Given the description of an element on the screen output the (x, y) to click on. 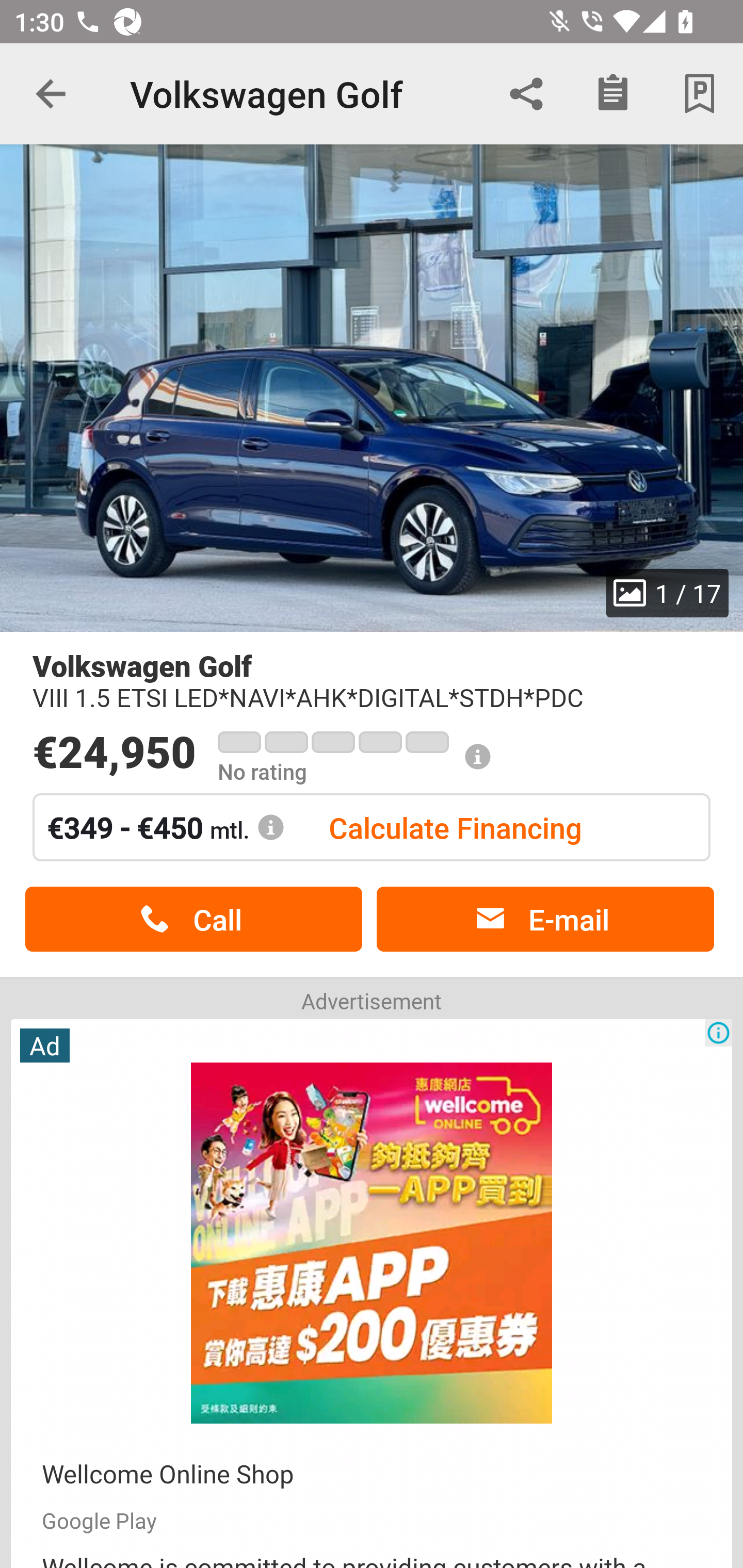
Navigate up (50, 93)
Share via (525, 93)
Checklist (612, 93)
Park (699, 93)
Calculate Financing (454, 826)
€349 - €450 mtl. (165, 826)
Call (193, 919)
E-mail (545, 919)
Ad Choices Icon (718, 1032)
Wellcome Online Shop (167, 1473)
Google Play (98, 1520)
